Given the description of an element on the screen output the (x, y) to click on. 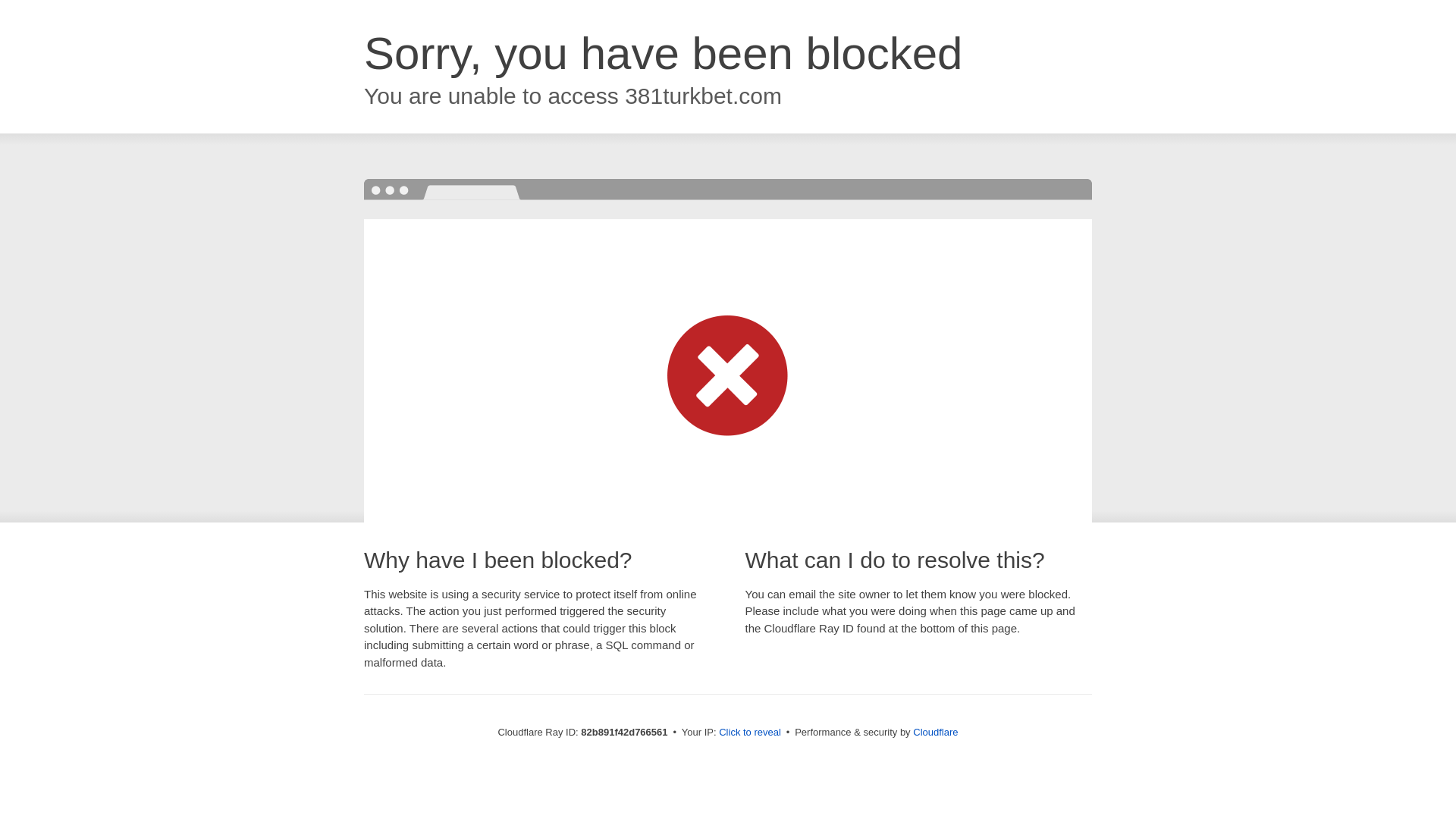
Cloudflare Element type: text (935, 731)
Click to reveal Element type: text (749, 732)
